Given the description of an element on the screen output the (x, y) to click on. 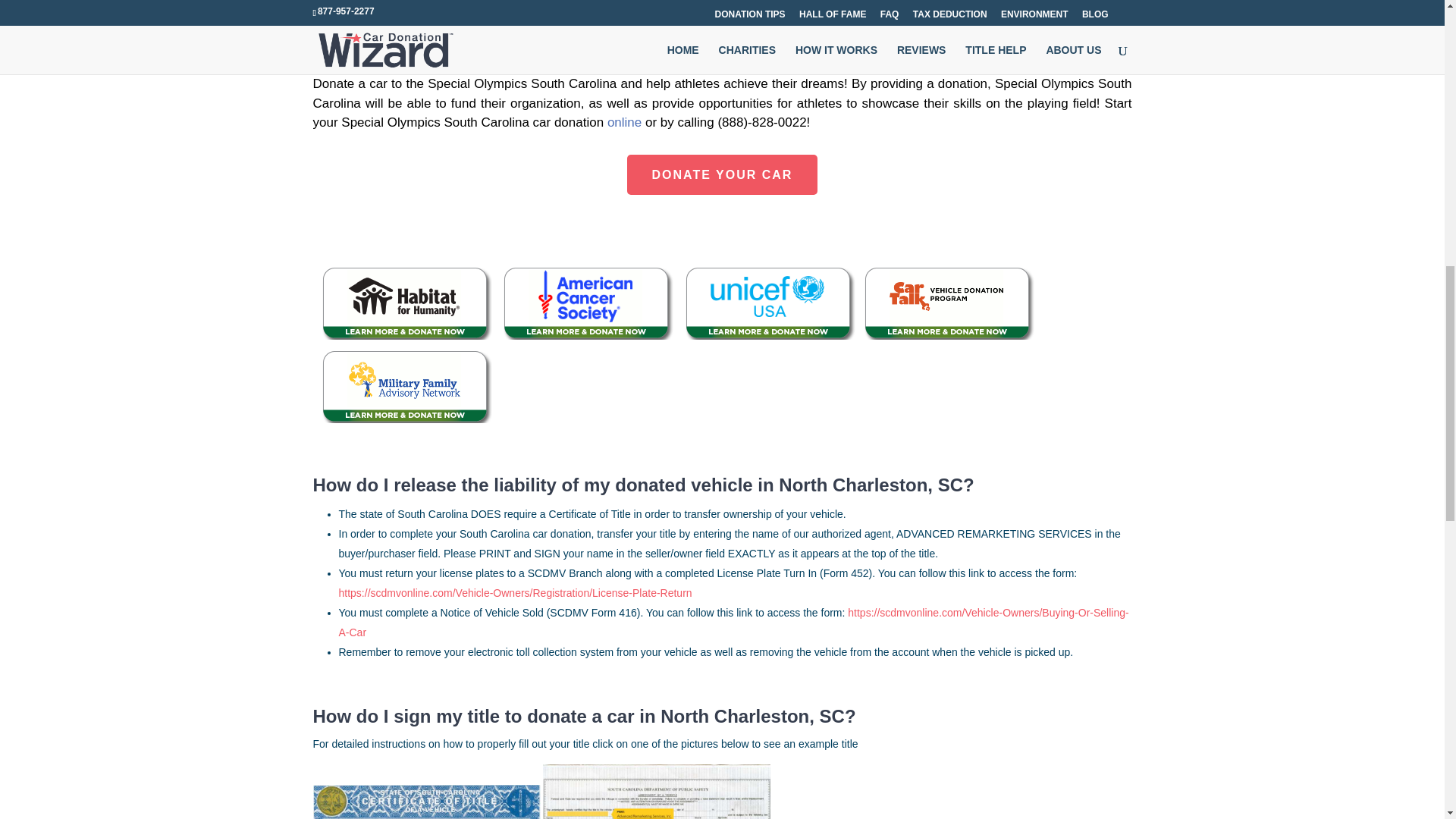
DONATE YOUR CAR (722, 174)
Special Olympics South Carolina (431, 64)
online (624, 122)
online (622, 44)
